Given the description of an element on the screen output the (x, y) to click on. 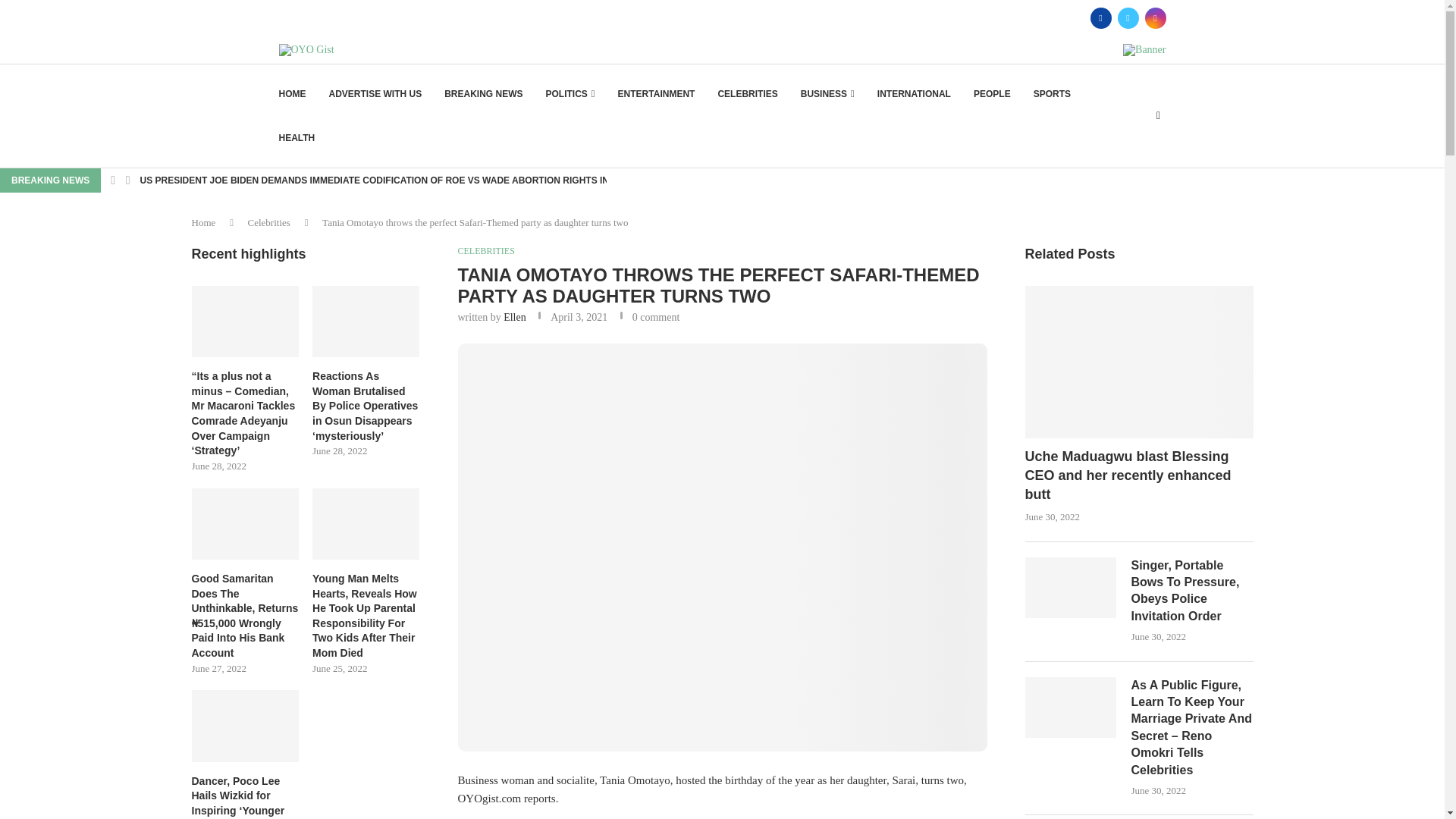
INTERNATIONAL (913, 94)
BREAKING NEWS (483, 94)
CELEBRITIES (747, 94)
ADVERTISE WITH US (375, 94)
ENTERTAINMENT (656, 94)
POLITICS (570, 94)
BUSINESS (827, 94)
